Given the description of an element on the screen output the (x, y) to click on. 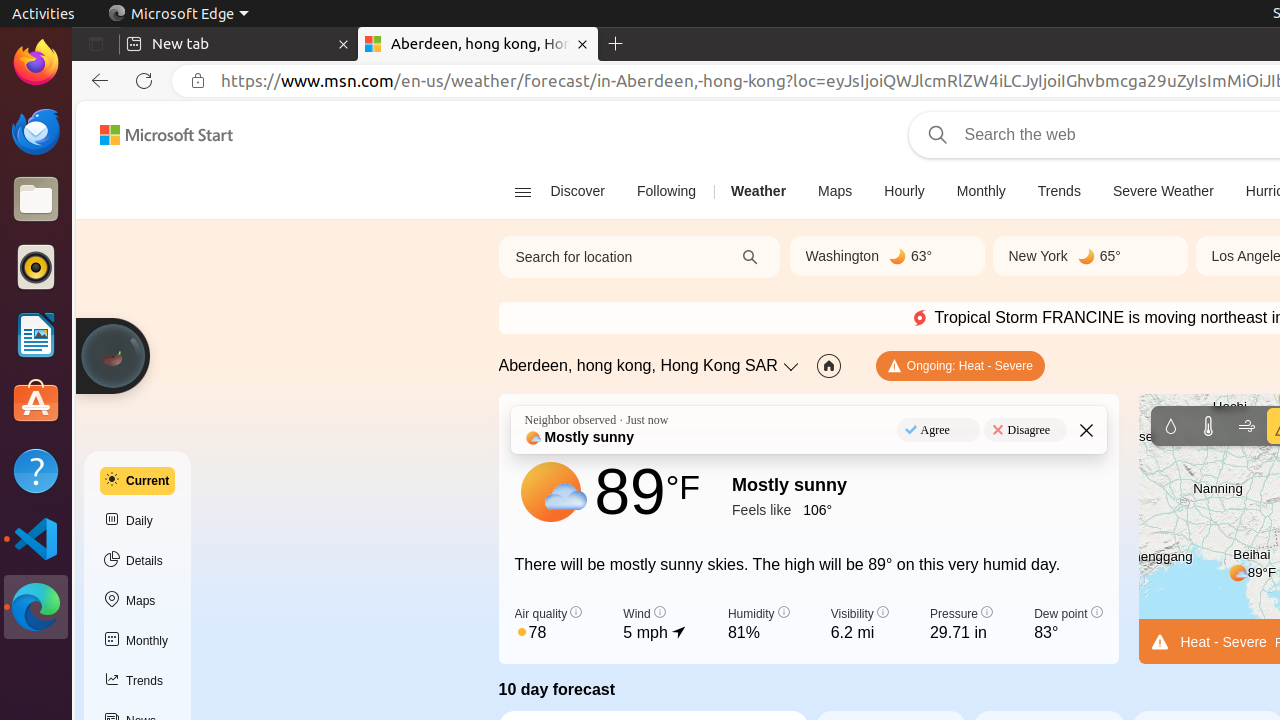
Aberdeen, hong kong, Hong Kong SAR Element type: link (638, 366)
Microsoft Start Element type: link (166, 135)
Trends Element type: push-button (138, 681)
Pressure 29.71 in Element type: link (961, 625)
Close tab Element type: push-button (343, 44)
